Given the description of an element on the screen output the (x, y) to click on. 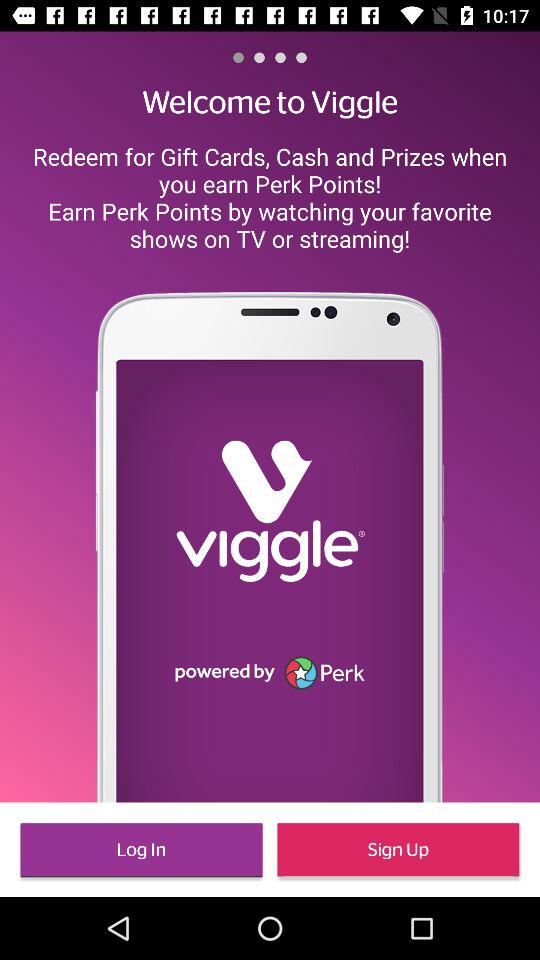
choose the item at the bottom right corner (398, 849)
